Given the description of an element on the screen output the (x, y) to click on. 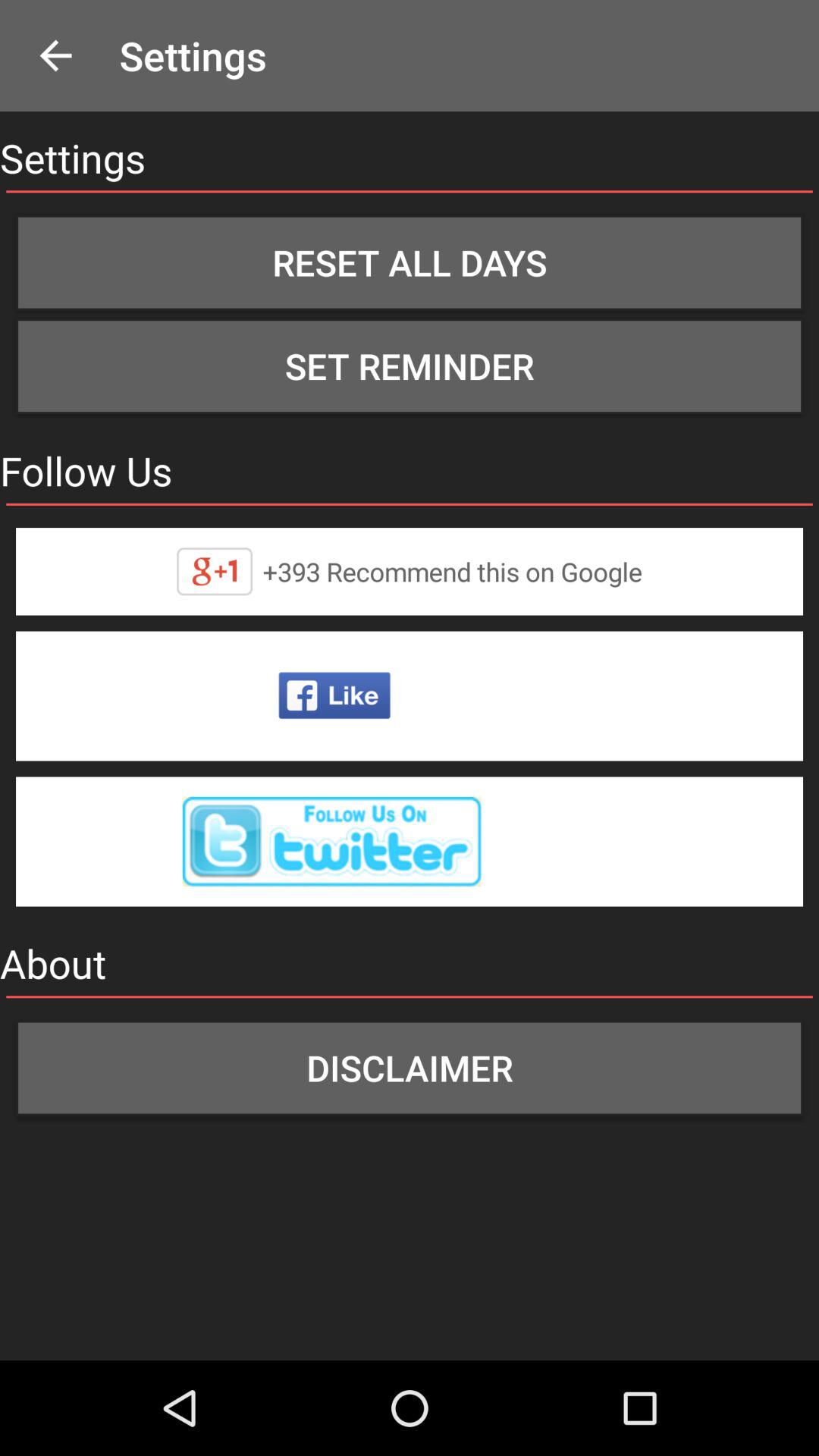
select the icon above settings item (55, 55)
